Given the description of an element on the screen output the (x, y) to click on. 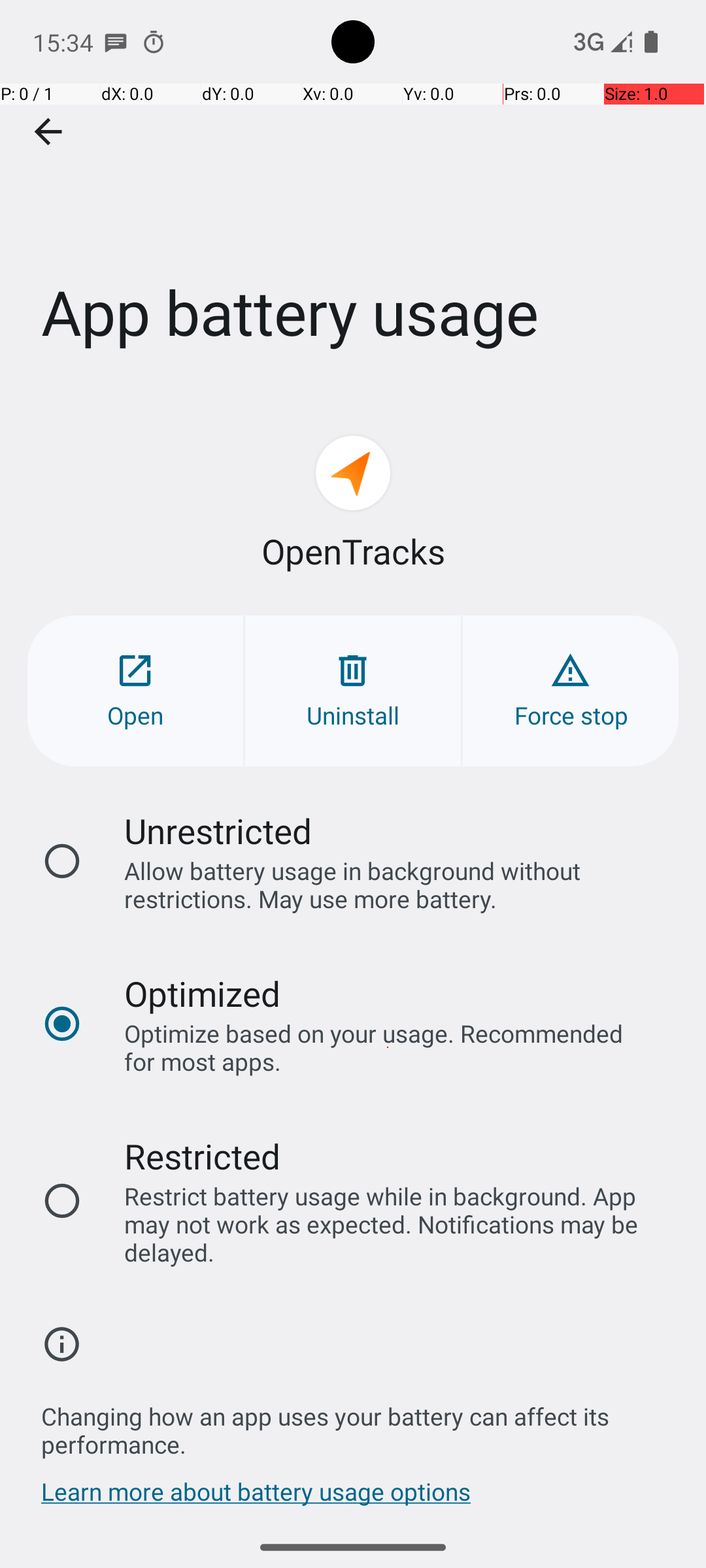
Unrestricted Element type: android.widget.TextView (217, 830)
Allow battery usage in background without restrictions. May use more battery. Element type: android.widget.TextView (387, 884)
Optimized Element type: android.widget.TextView (202, 993)
Optimize based on your usage. Recommended for most apps. Element type: android.widget.TextView (387, 1047)
Restricted Element type: android.widget.TextView (202, 1155)
Restrict battery usage while in background. App may not work as expected. Notifications may be delayed. Element type: android.widget.TextView (387, 1223)
Changing how an app uses your battery can affect its performance. Element type: android.widget.TextView (359, 1423)
Learn more about battery usage options Element type: android.widget.TextView (255, 1497)
